Given the description of an element on the screen output the (x, y) to click on. 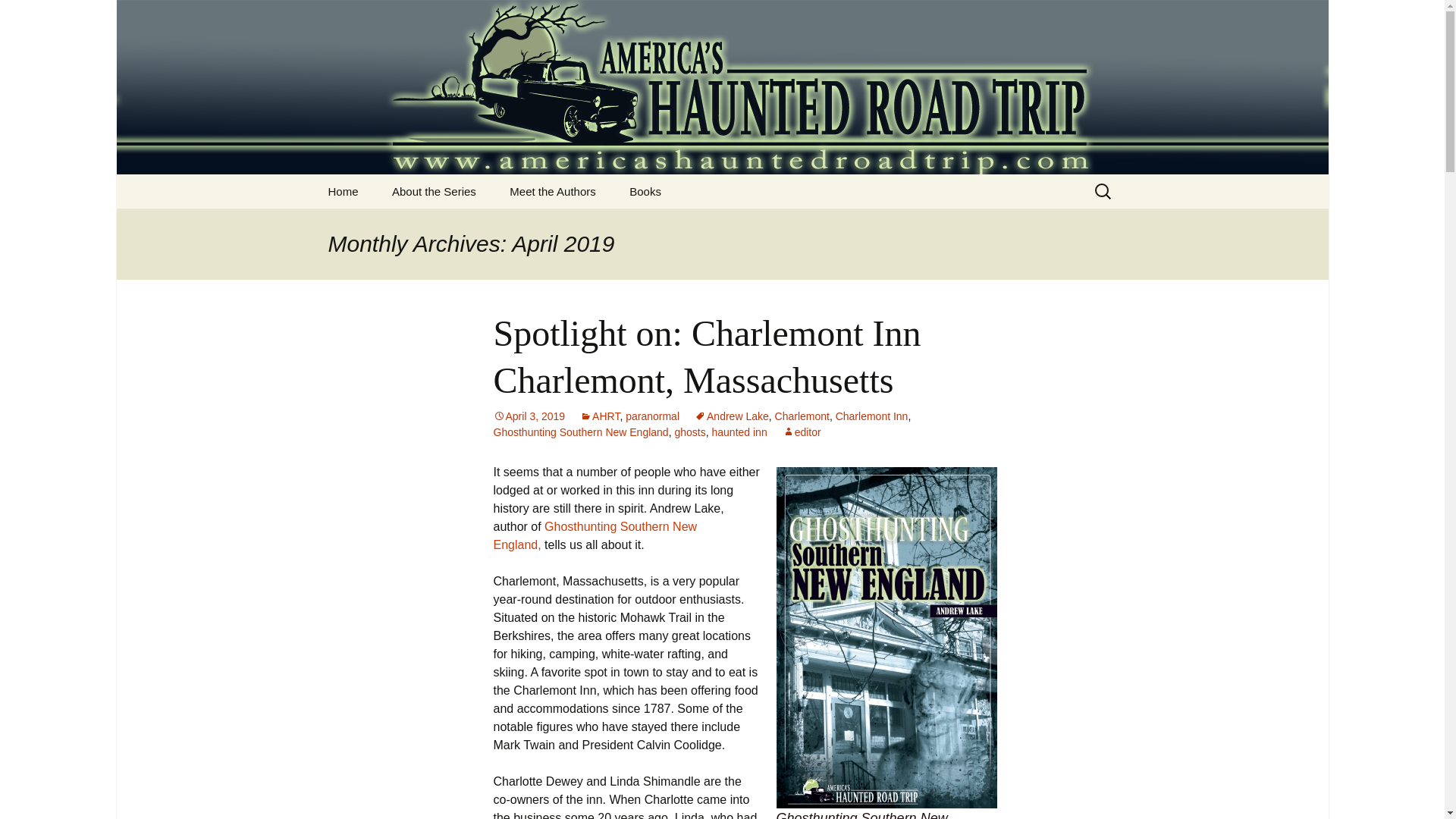
paranormal (652, 416)
View all posts by editor (802, 431)
Meet the Authors (552, 191)
April 3, 2019 (528, 416)
Andrew Lake (731, 416)
Charlemont (801, 416)
Search (34, 15)
haunted inn (739, 431)
Charlemont Inn (871, 416)
Search (18, 15)
Spotlight on: Charlemont Inn Charlemont, Massachusetts (706, 356)
Books (645, 191)
